Given the description of an element on the screen output the (x, y) to click on. 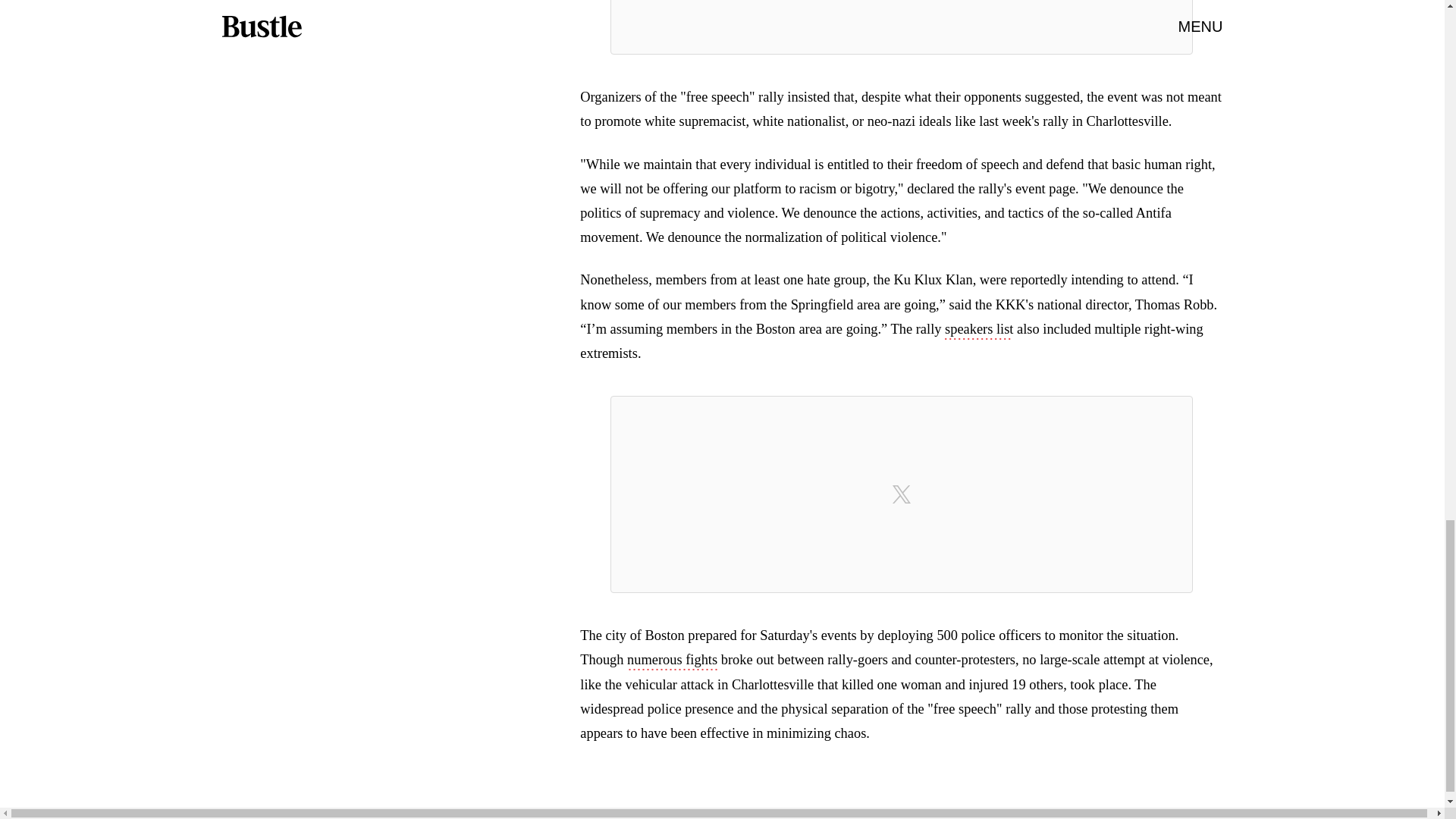
speakers list (978, 330)
numerous fights (672, 660)
